Given the description of an element on the screen output the (x, y) to click on. 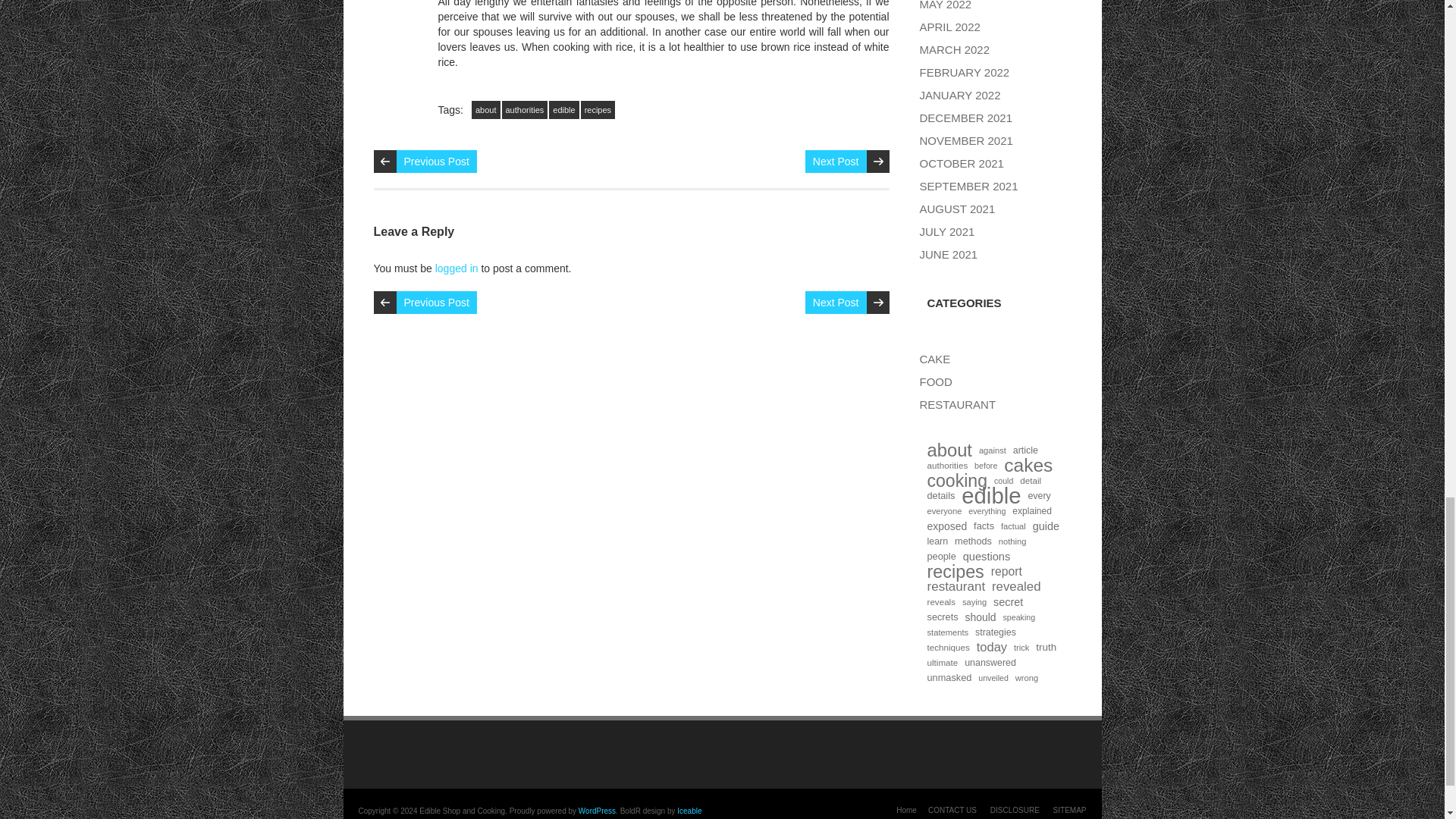
authorities (525, 109)
logged in (457, 268)
Next Post (835, 160)
Previous Post (436, 302)
about (485, 109)
Previous Post (436, 160)
edible (563, 109)
Semantic Personal Publishing Platform (596, 810)
Next Post (835, 302)
recipes (597, 109)
